Given the description of an element on the screen output the (x, y) to click on. 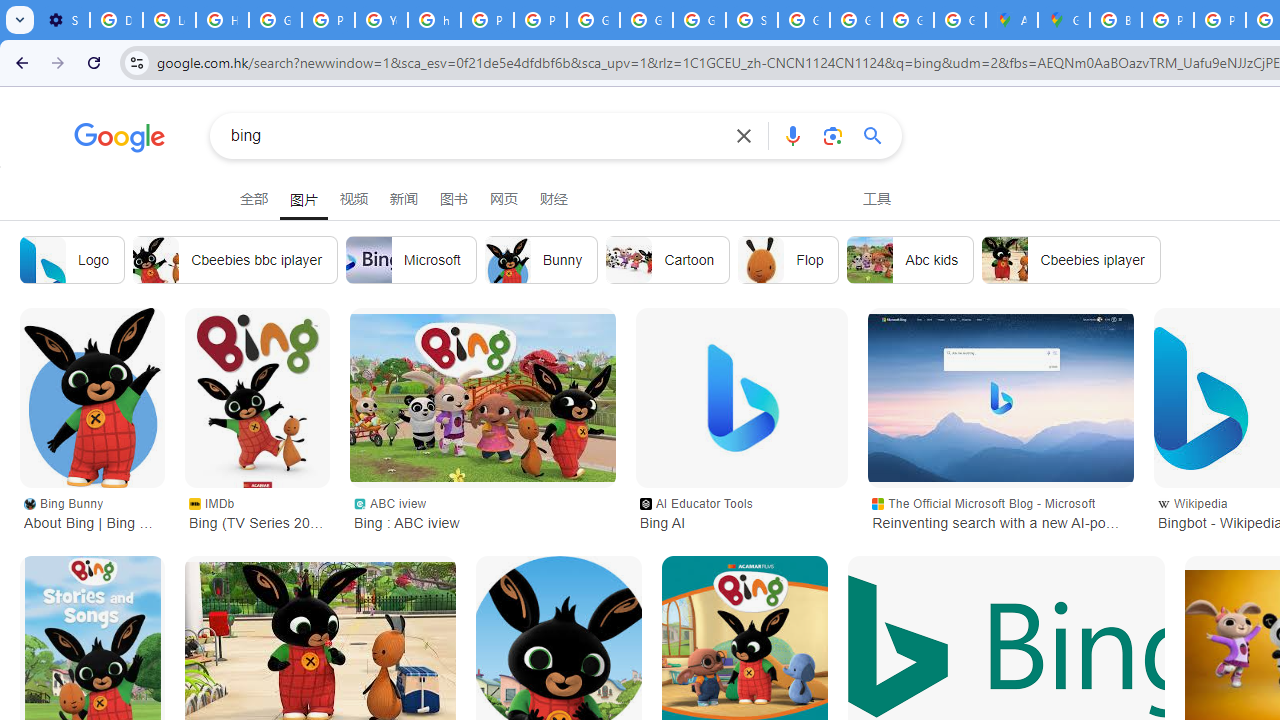
Google Maps (1064, 20)
AI Educator Tools Bing AI (741, 511)
Sign in - Google Accounts (751, 20)
Privacy Help Center - Policies Help (487, 20)
